Given the description of an element on the screen output the (x, y) to click on. 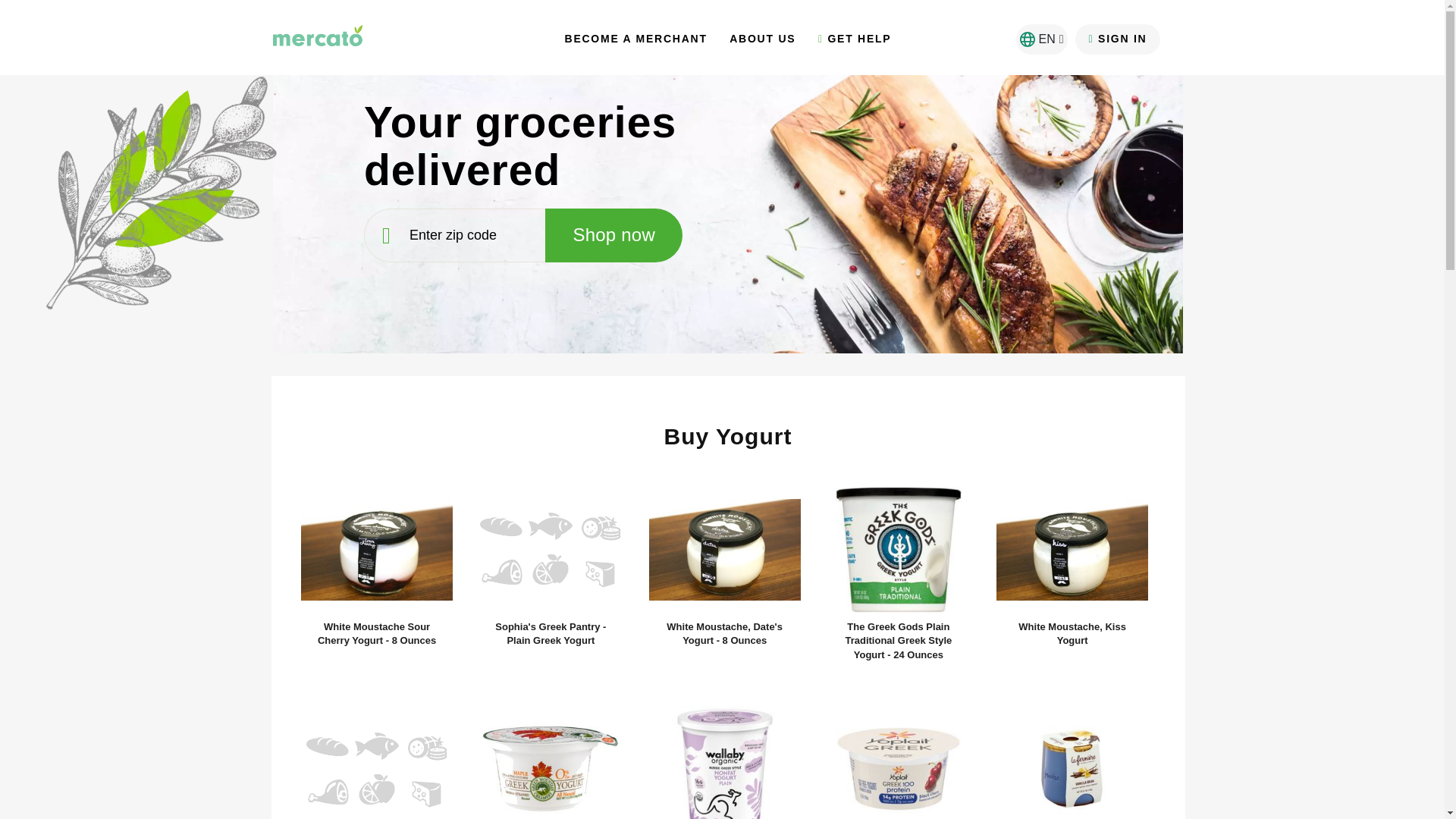
Shop now (613, 234)
BECOME A MERCHANT (635, 42)
SIGN IN (1117, 39)
Shop Now (794, 37)
GET HELP (854, 42)
EN (1041, 39)
ABOUT US (761, 42)
